Given the description of an element on the screen output the (x, y) to click on. 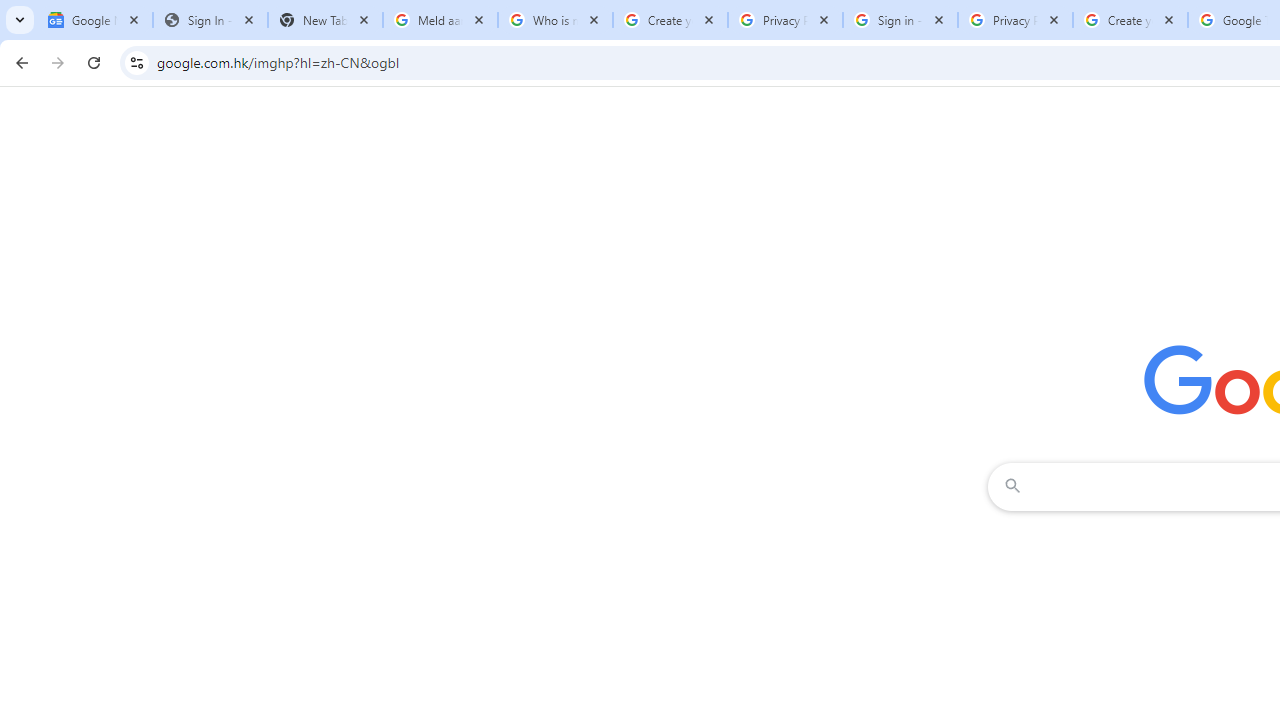
Create your Google Account (670, 20)
